Given the description of an element on the screen output the (x, y) to click on. 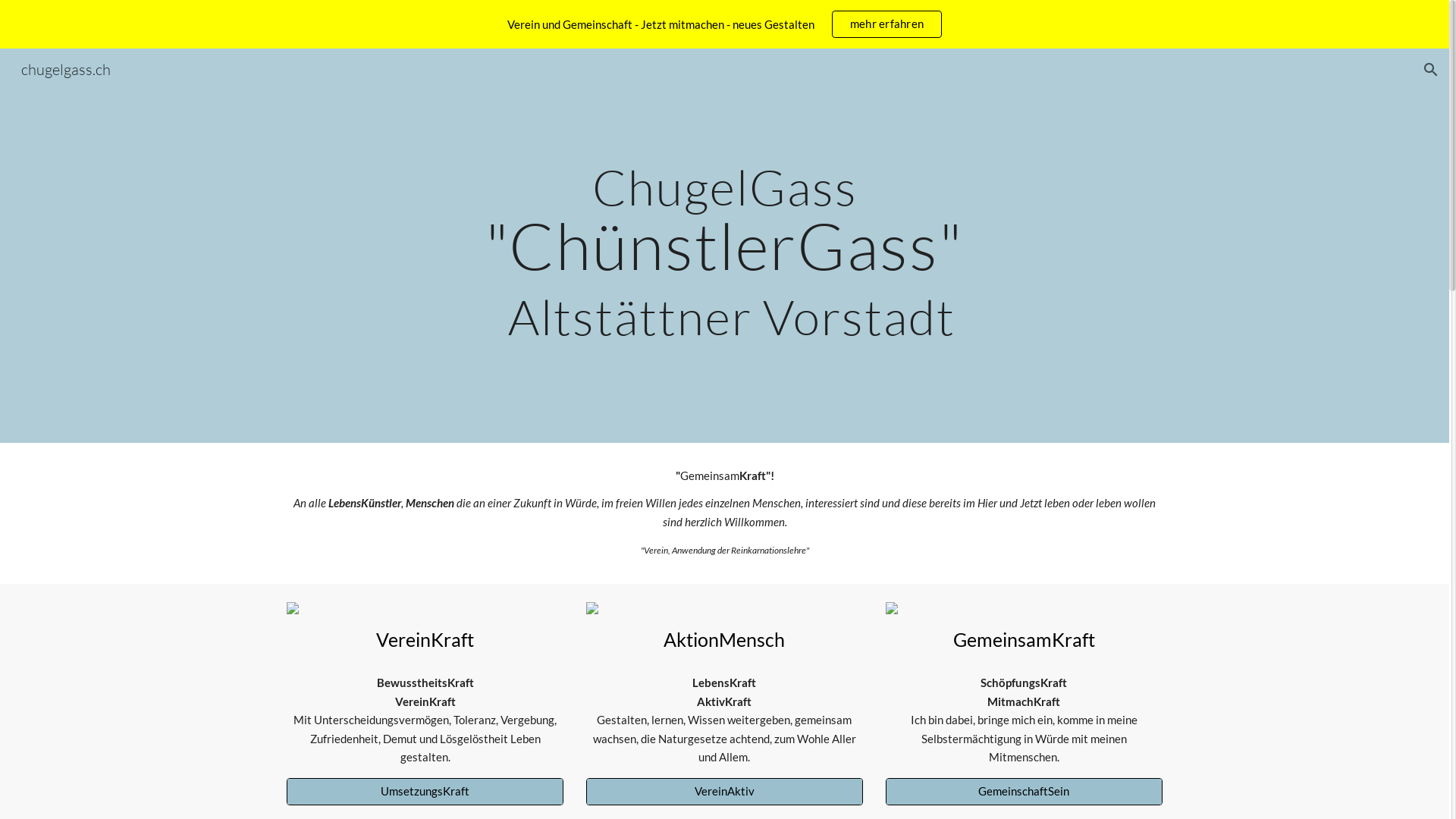
GemeinschaftSein Element type: text (1023, 790)
mehr erfahren Element type: text (886, 24)
VereinAktiv Element type: text (724, 790)
UmsetzungsKraft Element type: text (424, 790)
chugelgass.ch Element type: text (65, 67)
